Given the description of an element on the screen output the (x, y) to click on. 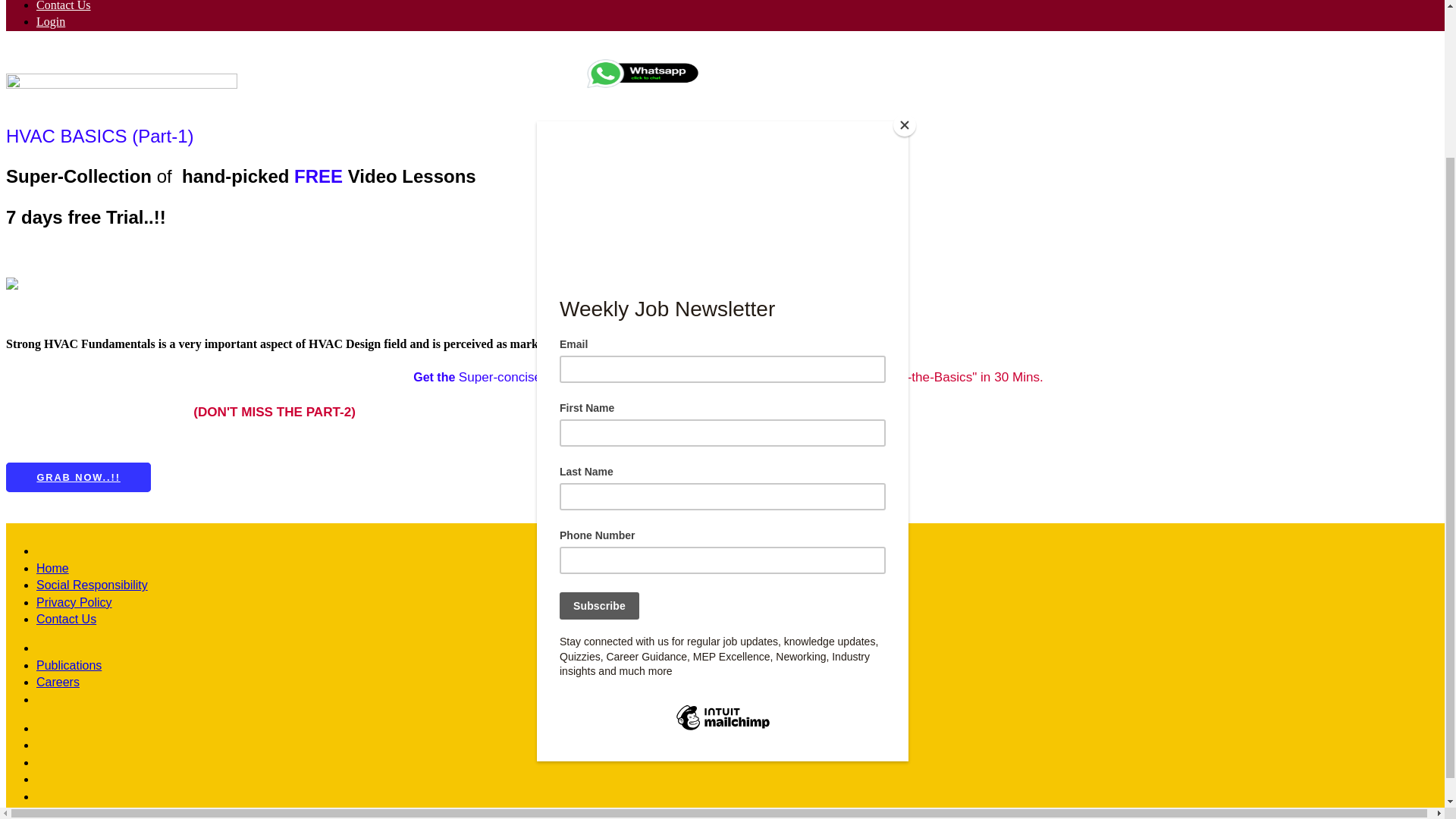
Contact Us (66, 618)
Login (50, 21)
Publications (68, 665)
Contact Us (63, 5)
Careers (58, 681)
Home (52, 567)
Social Responsibility (92, 584)
GRAB NOW..!! (78, 477)
Privacy Policy (74, 602)
